Given the description of an element on the screen output the (x, y) to click on. 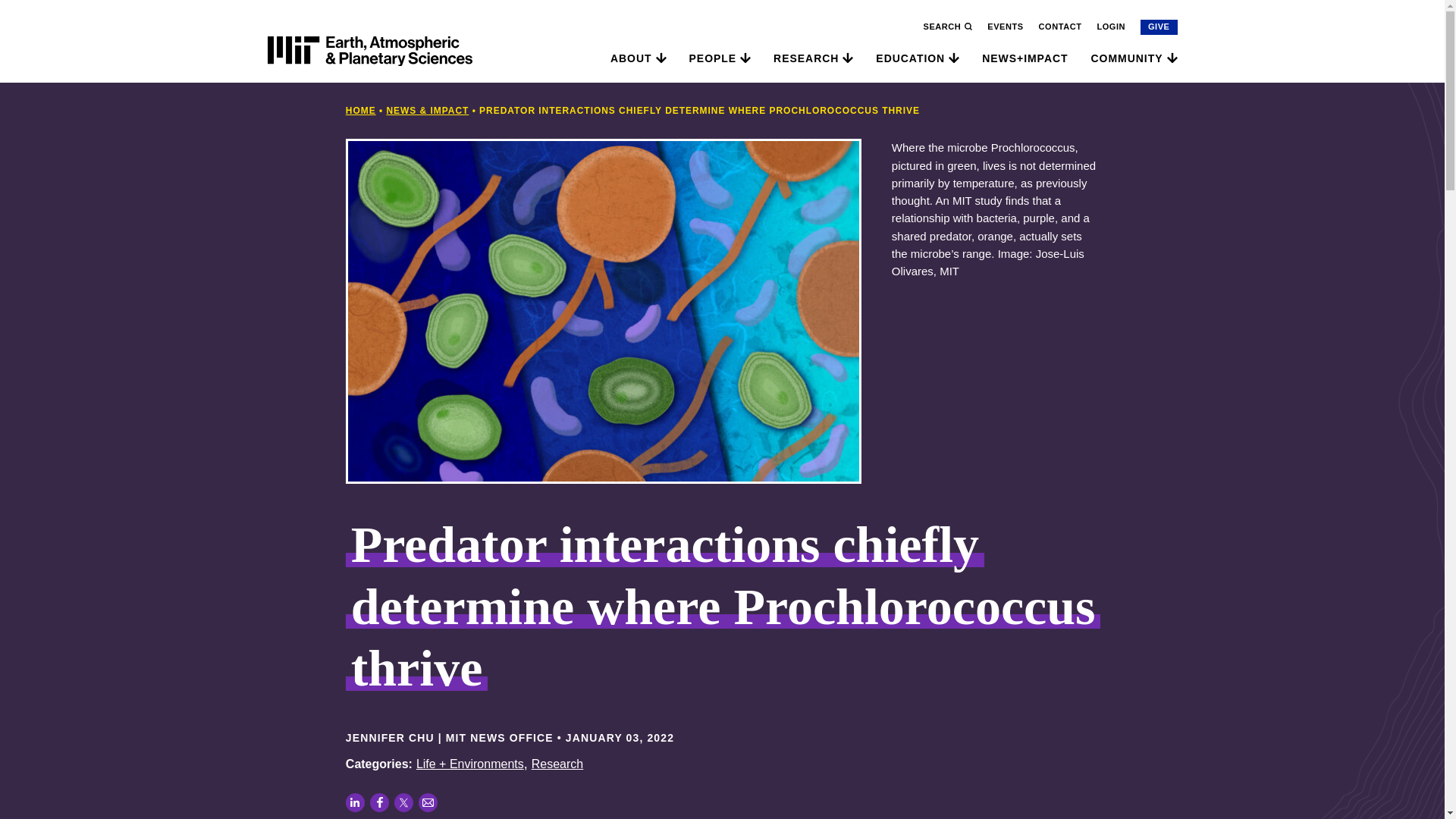
EDUCATION (910, 58)
GIVE (1158, 26)
LOGIN (1110, 26)
LinkedIn (355, 802)
EVENTS (1005, 26)
Facebook (378, 802)
PEOPLE (712, 58)
Email (428, 802)
Search (982, 35)
RESEARCH (805, 58)
ABOUT (631, 58)
CONTACT (1060, 26)
SEARCH (947, 26)
Twitter (403, 802)
